Given the description of an element on the screen output the (x, y) to click on. 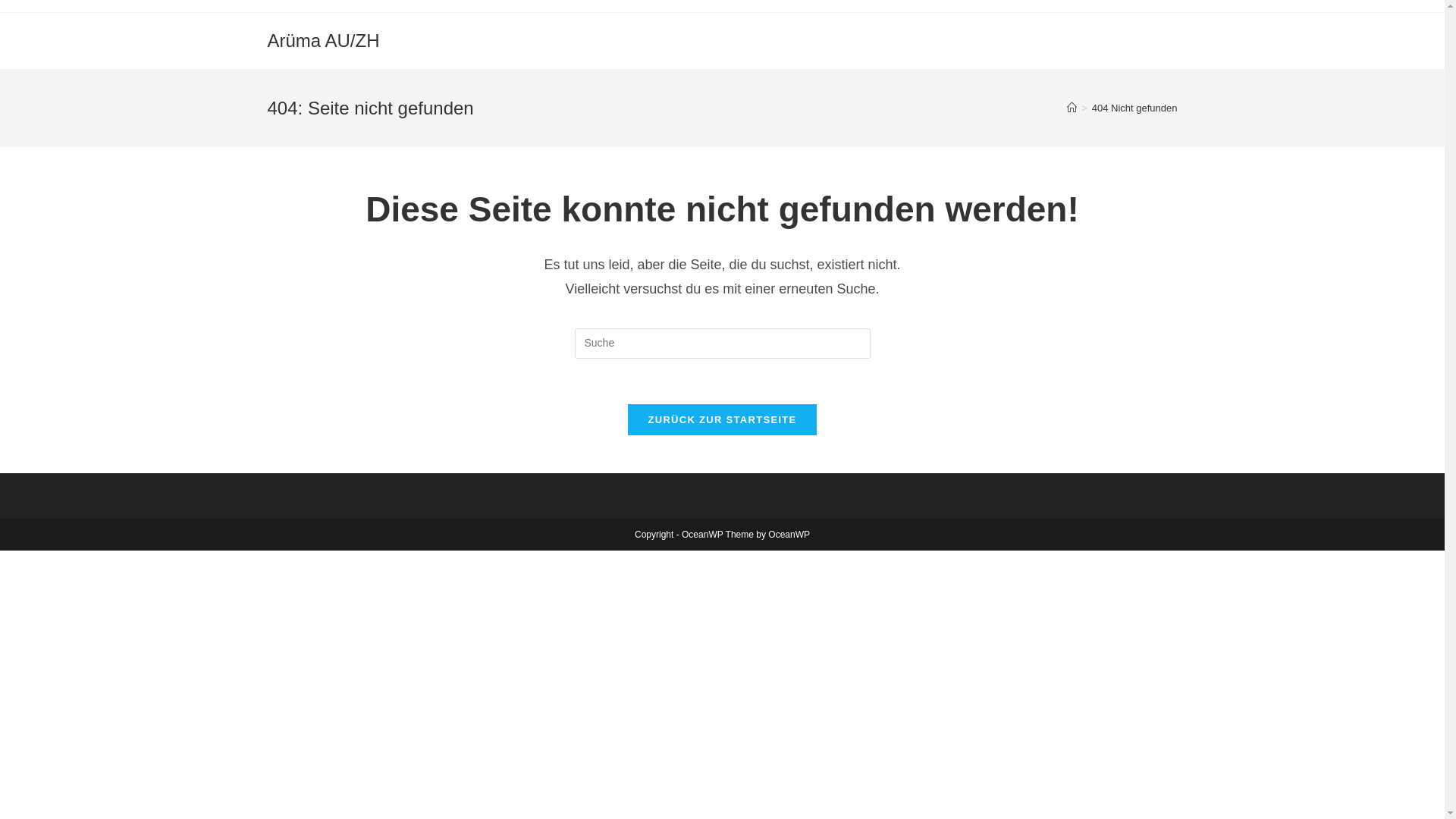
404 Nicht gefunden Element type: text (1134, 107)
